Given the description of an element on the screen output the (x, y) to click on. 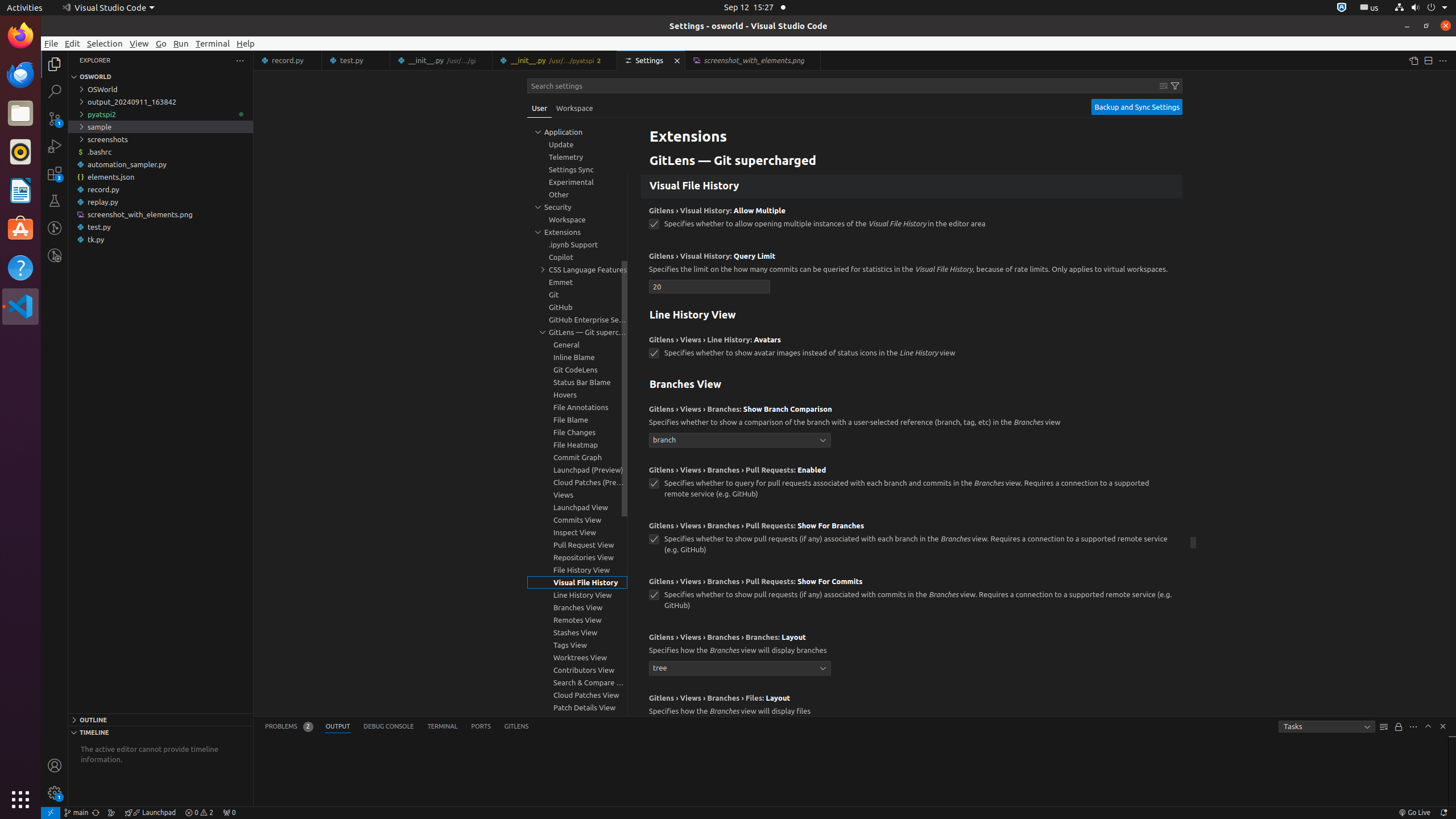
Gitlens › Views › Branches › Pull Requests Enabled. Specifies whether to query for pull requests associated with each branch and commits in the Branches view. Requires a connection to a supported remote service (e.g. GitHub)  Element type: tree-item (911, 485)
Filter Settings Element type: push-button (1174, 85)
Selection Element type: push-button (104, 43)
Edit Element type: push-button (72, 43)
Output (Ctrl+K Ctrl+H) Element type: page-tab (337, 726)
